Given the description of an element on the screen output the (x, y) to click on. 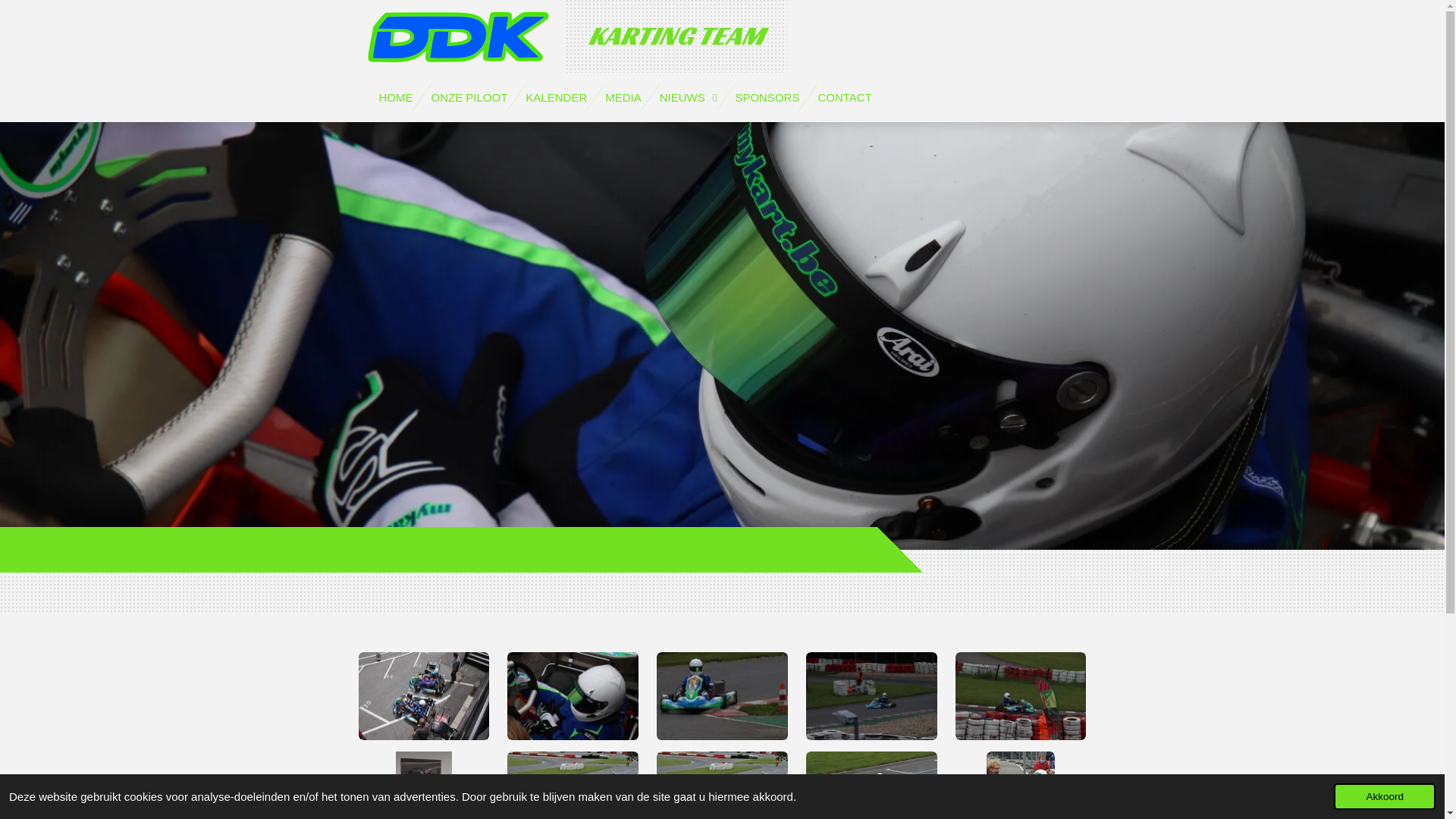
Toon grotere versie Element type: hover (721, 696)
ONZE PILOOT Element type: text (468, 97)
Toon grotere versie Element type: hover (1020, 696)
SPONSORS Element type: text (766, 97)
CONTACT Element type: text (844, 97)
NIEUWS Element type: text (688, 97)
MEDIA Element type: text (623, 97)
DDK_KARTING_TEAM Element type: hover (453, 33)
KARTING TEAM Element type: text (676, 35)
HOME Element type: text (396, 97)
Toon grotere versie Element type: hover (871, 695)
Toon grotere versie Element type: hover (423, 696)
KALENDER Element type: text (556, 97)
Toon grotere versie Element type: hover (572, 696)
Akkoord Element type: text (1384, 796)
